Given the description of an element on the screen output the (x, y) to click on. 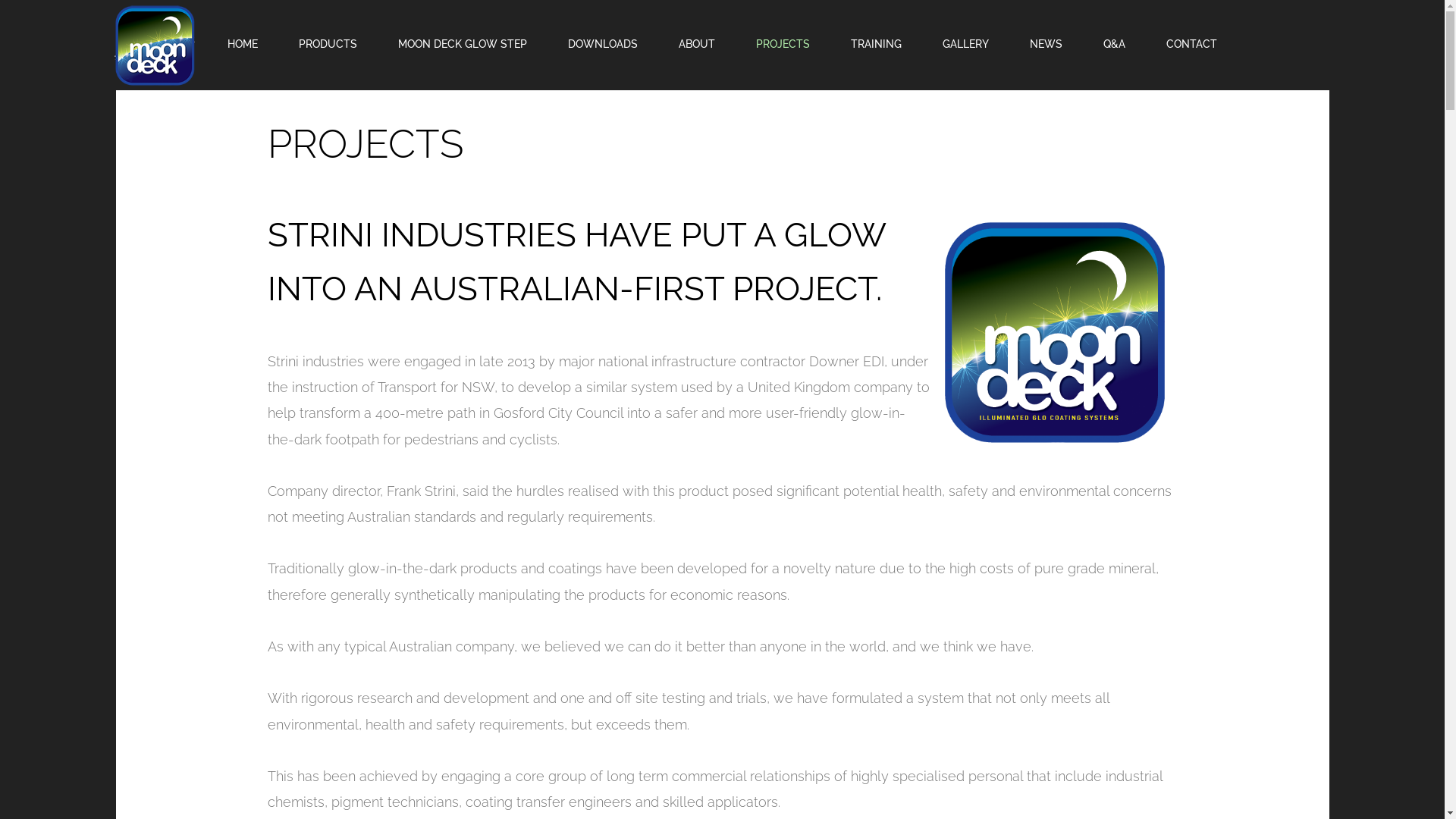
TRAINING Element type: text (876, 43)
ABOUT Element type: text (696, 43)
PRODUCTS Element type: text (327, 43)
MOON DECK GLOW STEP Element type: text (462, 43)
PROJECTS Element type: text (782, 43)
DOWNLOADS Element type: text (602, 43)
HOME Element type: text (242, 43)
NEWS Element type: text (1045, 43)
GALLERY Element type: text (965, 43)
CONTACT Element type: text (1191, 43)
Q&A Element type: text (1113, 43)
